Given the description of an element on the screen output the (x, y) to click on. 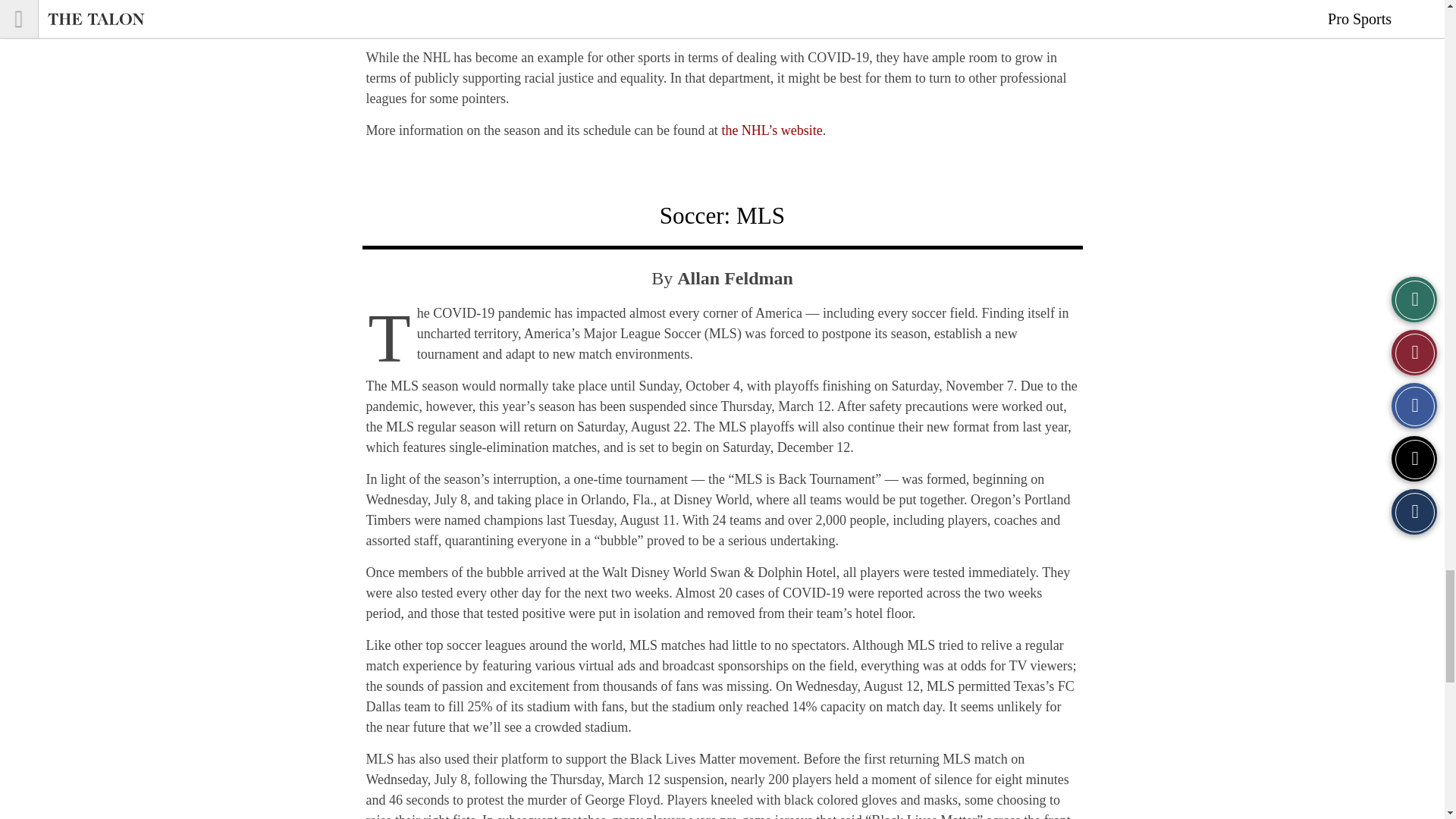
Allan Feldman (735, 278)
